Given the description of an element on the screen output the (x, y) to click on. 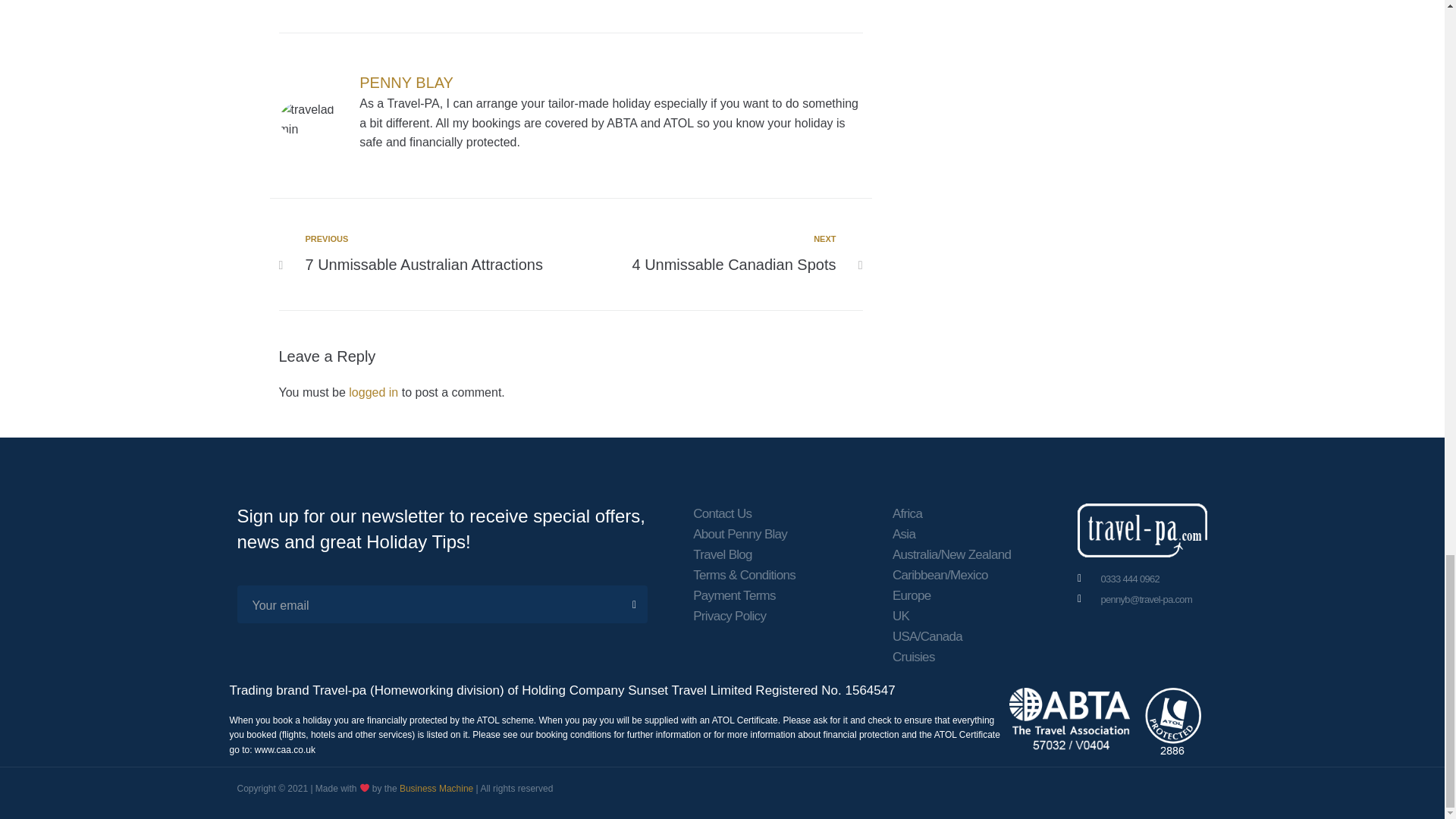
Contact Us (743, 513)
logged in (373, 391)
PENNY BLAY (405, 82)
About Penny Blay (431, 254)
